Given the description of an element on the screen output the (x, y) to click on. 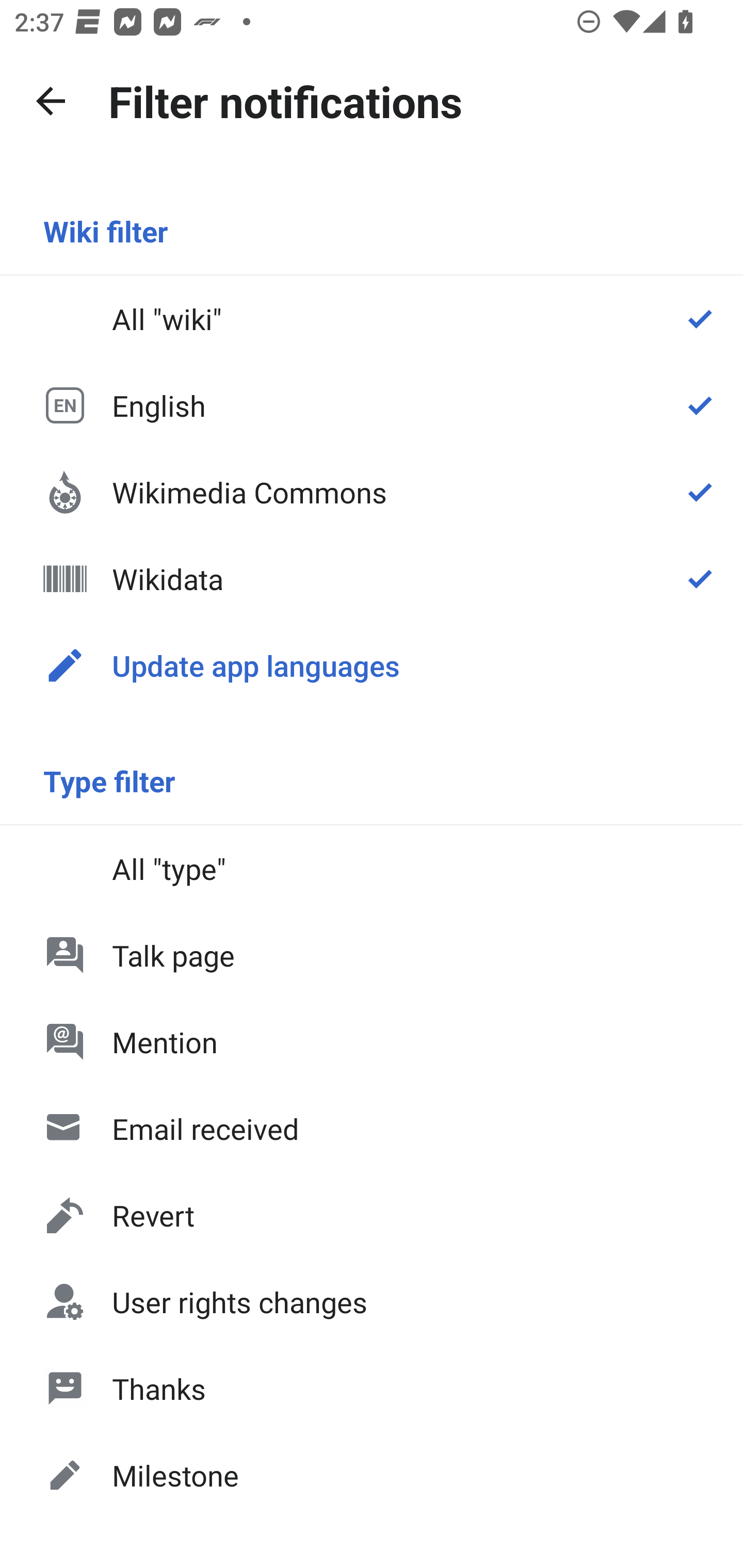
Navigate up (50, 101)
All "wiki" (371, 318)
EN English (371, 405)
Wikimedia Commons (371, 491)
Wikidata (371, 578)
Update app languages (371, 665)
All "type" (371, 868)
Talk page (371, 955)
Mention (371, 1041)
Email received (371, 1128)
Revert (371, 1215)
User rights changes (371, 1302)
Thanks (371, 1388)
Milestone (371, 1474)
